Given the description of an element on the screen output the (x, y) to click on. 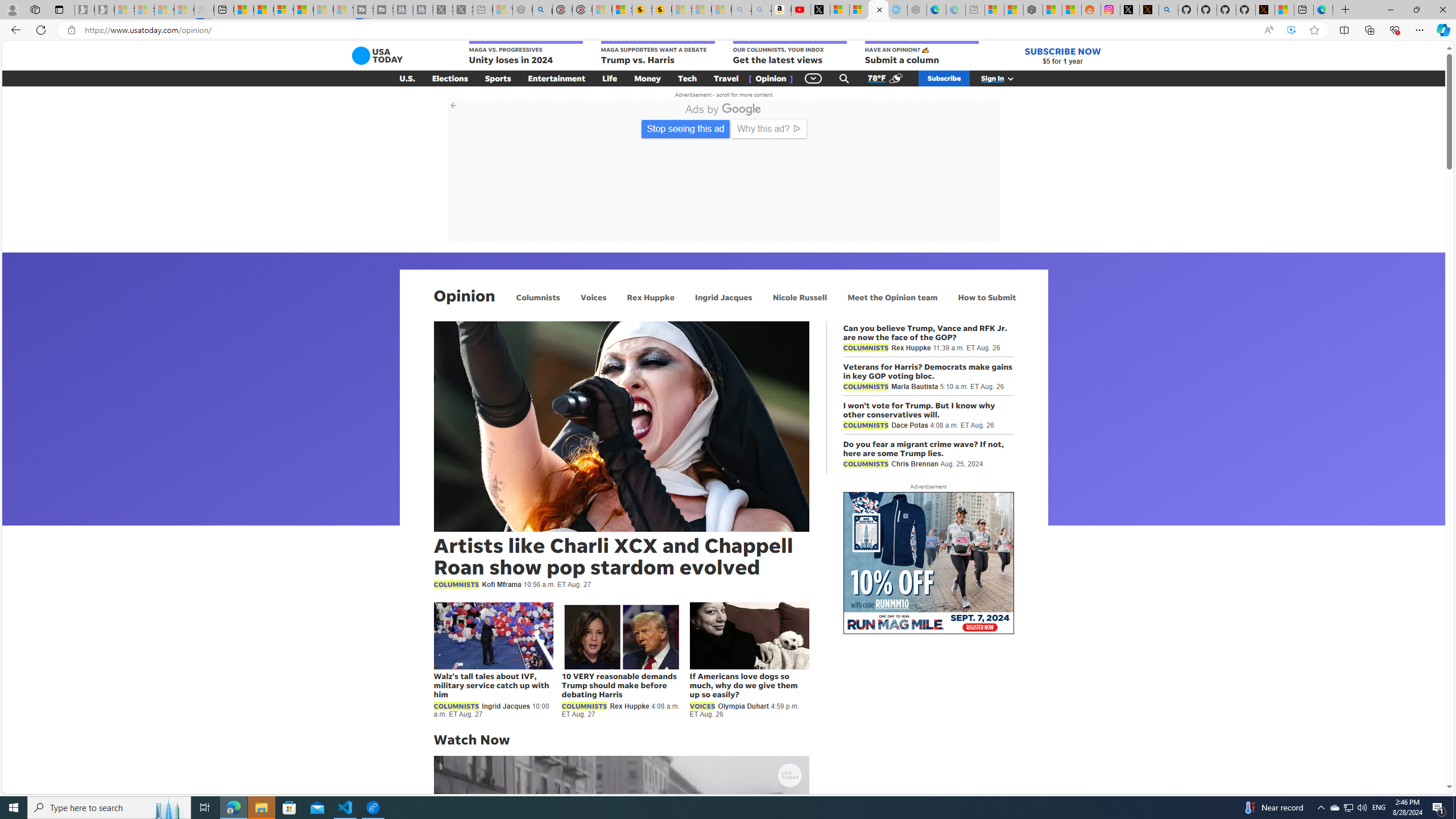
Nordace - Duffels (1033, 9)
Global Navigation (813, 78)
MAGA SUPPORTERS WANT A DEBATE Trump vs. Harris (656, 53)
Class: ns-dqusr-e-25 (977, 219)
Class: gnt_n_us_a_svg (1008, 78)
Class: ns-dqusr-e-4 (583, 170)
